Given the description of an element on the screen output the (x, y) to click on. 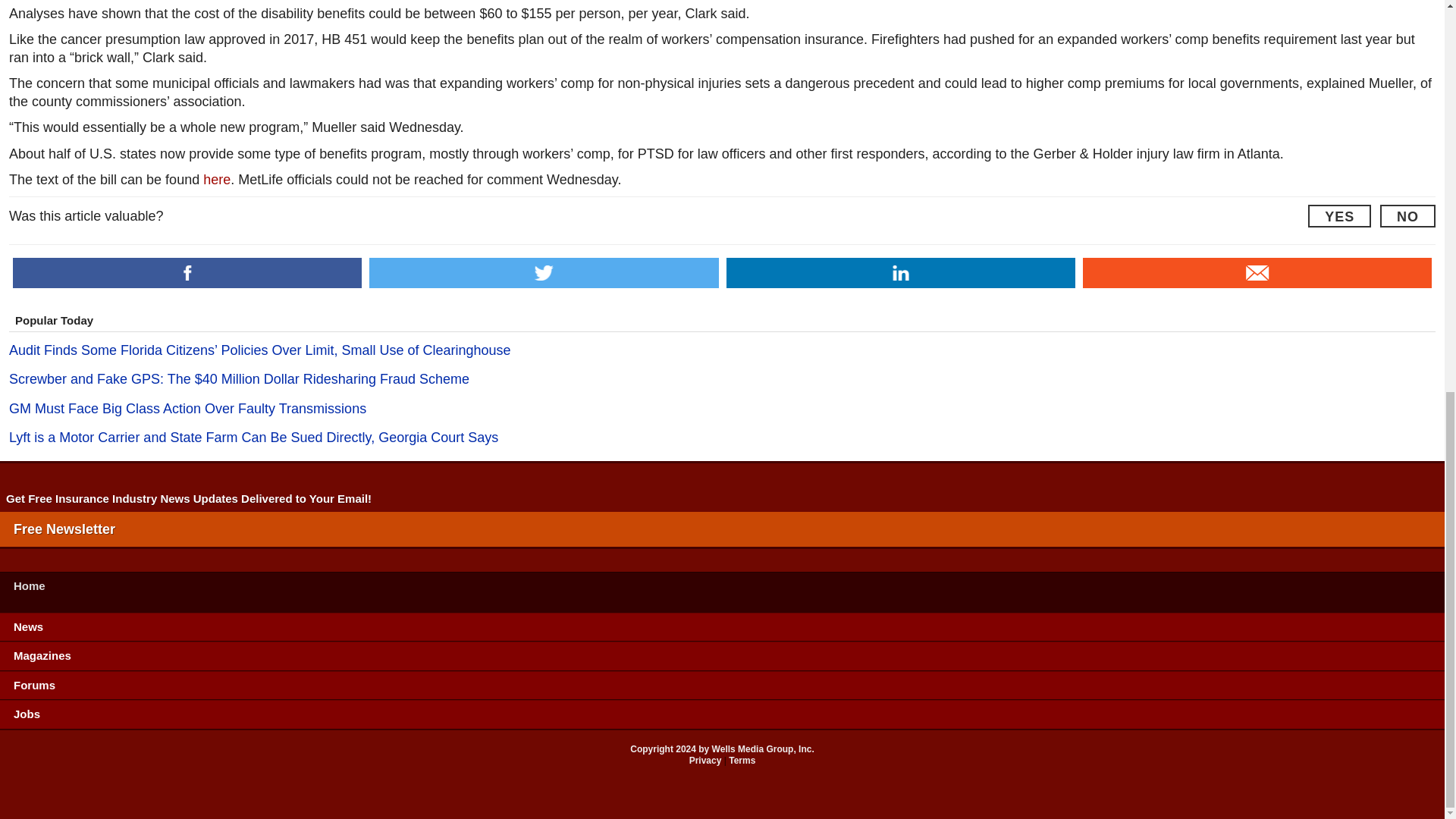
YES (1339, 215)
Terms (742, 760)
here (216, 179)
Privacy (705, 760)
Post to Facebook. (187, 272)
NO (1407, 215)
GM Must Face Big Class Action Over Faulty Transmissions (721, 409)
Share on Twitter. (543, 272)
Share on LinkedIn. (900, 272)
